Given the description of an element on the screen output the (x, y) to click on. 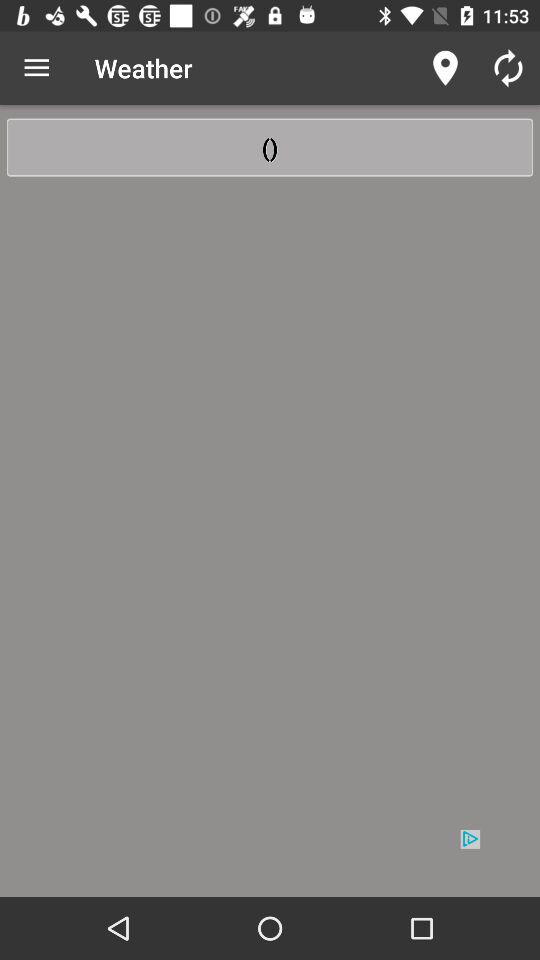
advertisement link (270, 861)
